Given the description of an element on the screen output the (x, y) to click on. 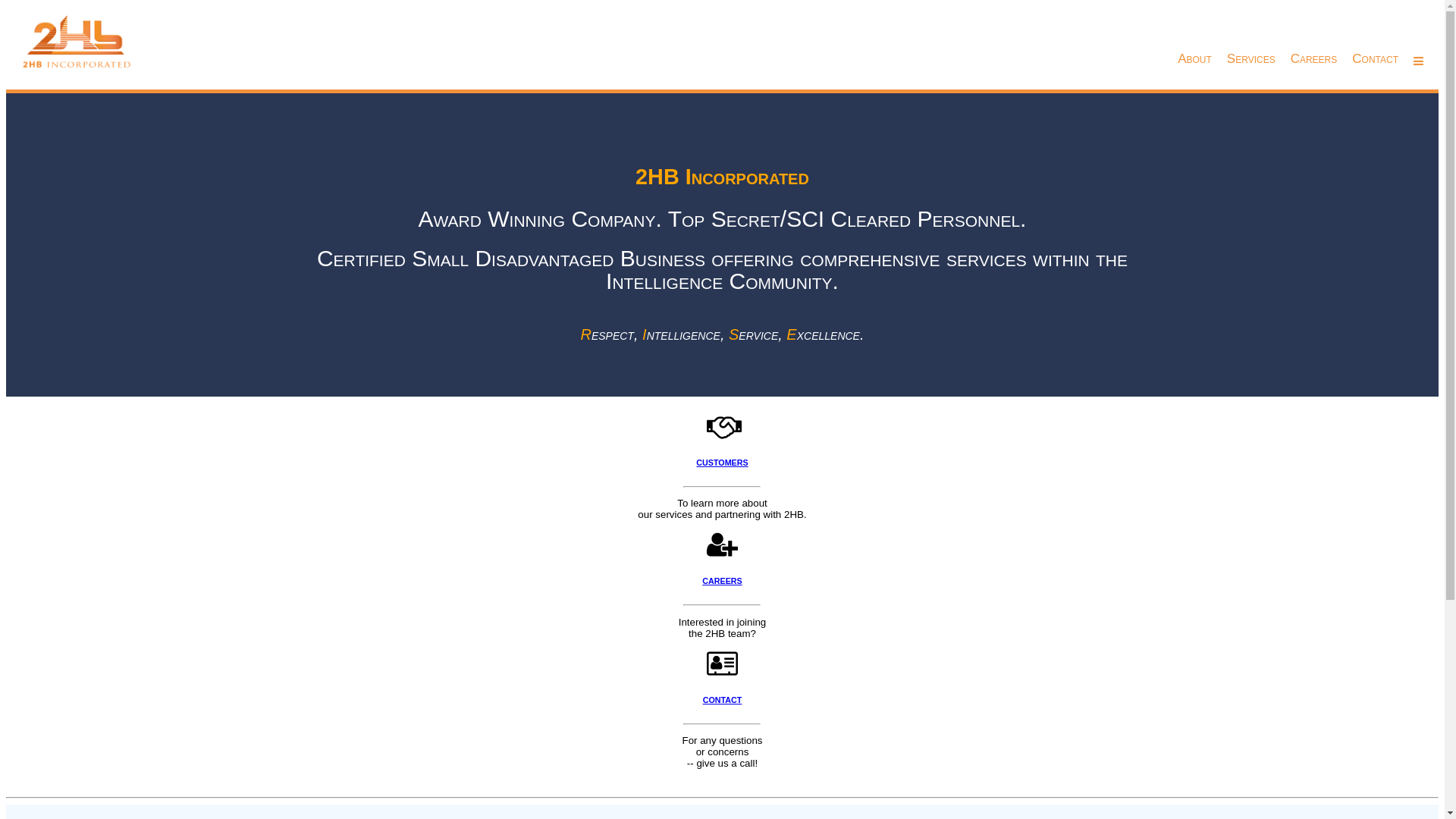
CUSTOMERS Element type: text (721, 462)
Careers Element type: text (1313, 36)
CAREERS Element type: text (721, 580)
CONTACT Element type: text (722, 699)
About Element type: text (1194, 36)
Services Element type: text (1250, 36)
Contact Element type: text (1375, 36)
